Given the description of an element on the screen output the (x, y) to click on. 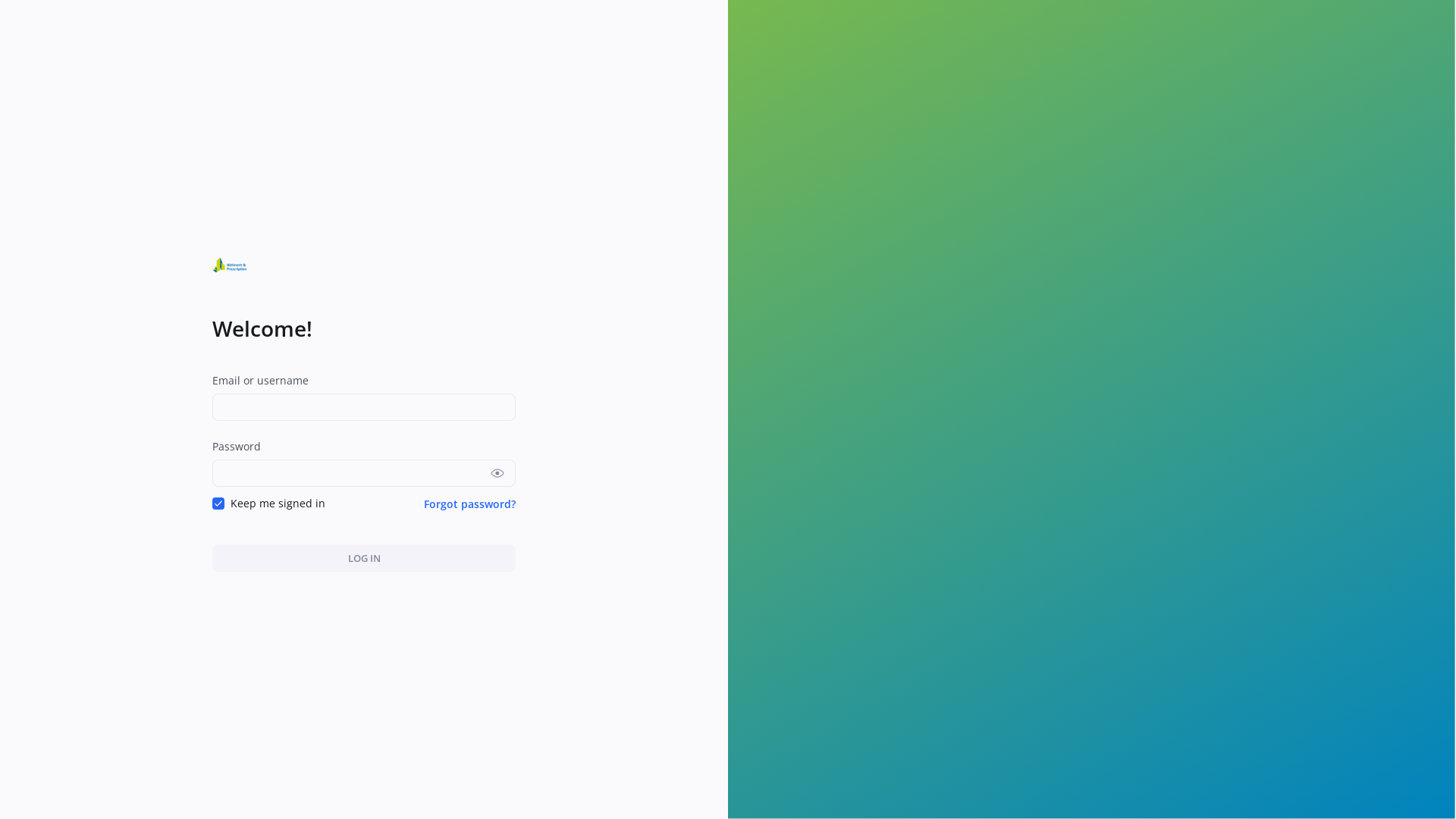
LOG IN Element type: text (363, 557)
Forgot password? Element type: text (469, 502)
